Given the description of an element on the screen output the (x, y) to click on. 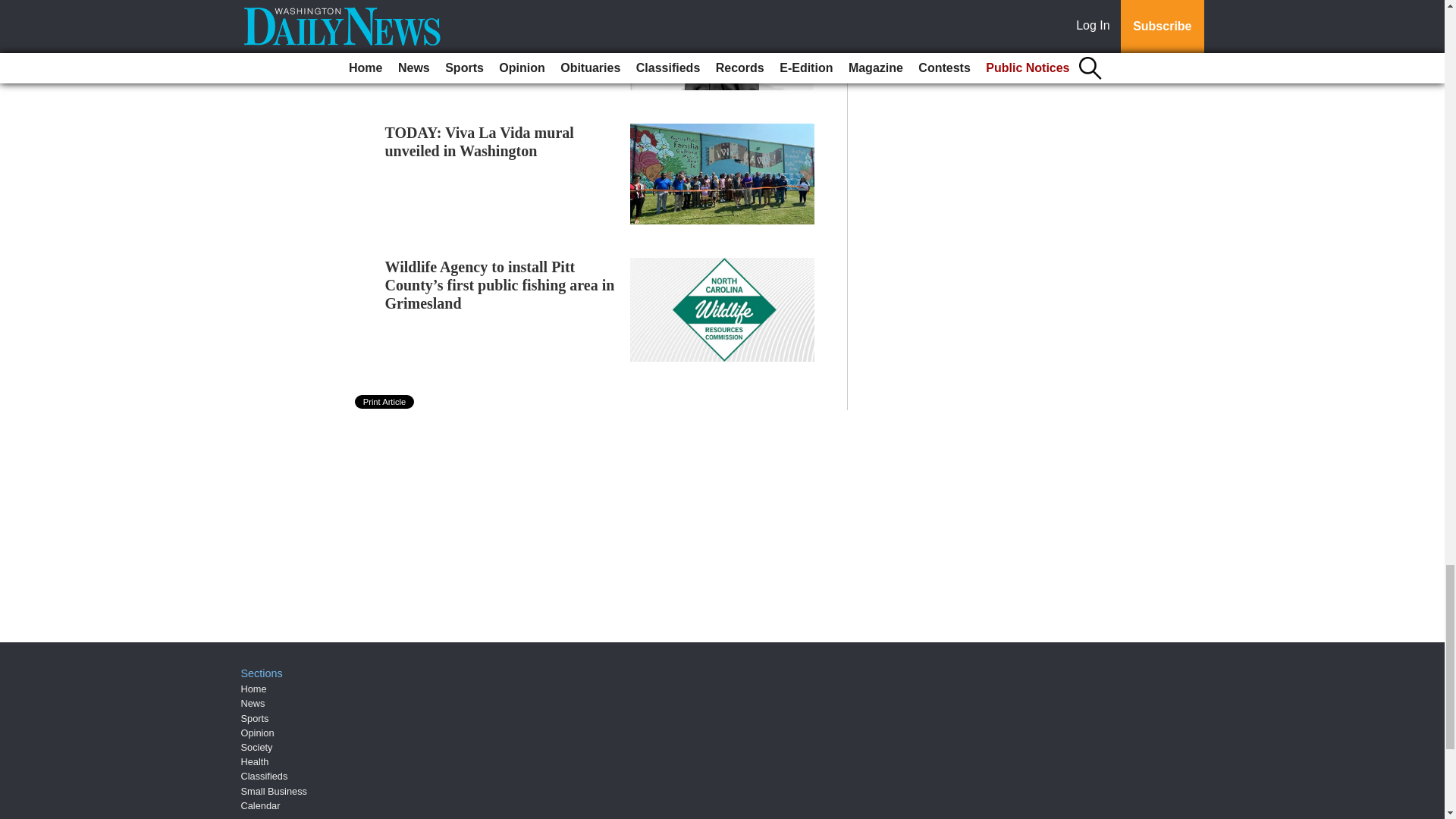
Sports (255, 717)
News (252, 703)
TODAY: Viva La Vida mural unveiled in Washington (479, 141)
5th Sarah Keys Evans Day scheduled (471, 12)
Opinion (258, 732)
Home (253, 688)
Print Article (384, 401)
5th Sarah Keys Evans Day scheduled (471, 12)
TODAY: Viva La Vida mural unveiled in Washington (479, 141)
